Given the description of an element on the screen output the (x, y) to click on. 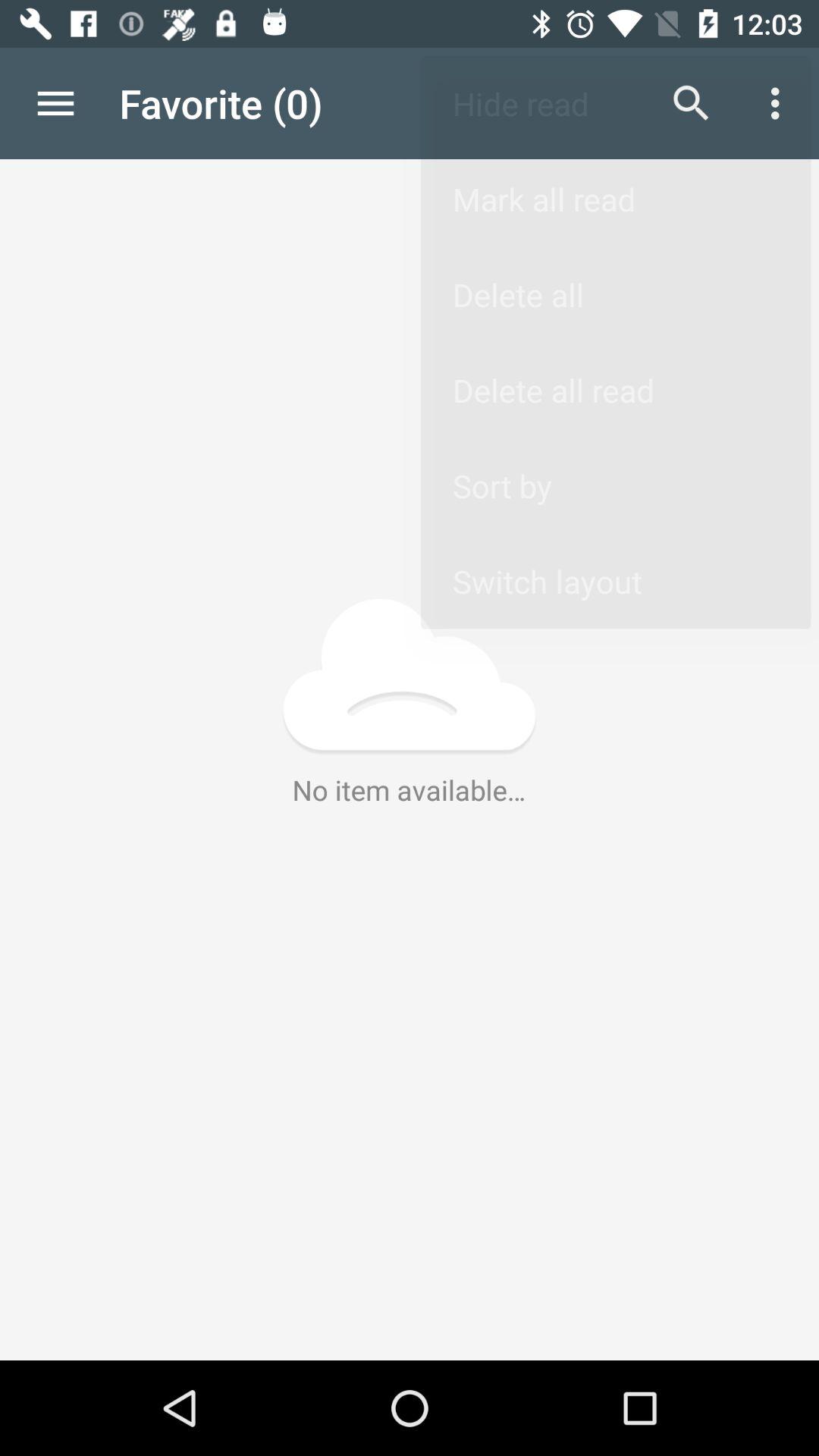
press item to the right of the favorite (0) app (691, 103)
